Given the description of an element on the screen output the (x, y) to click on. 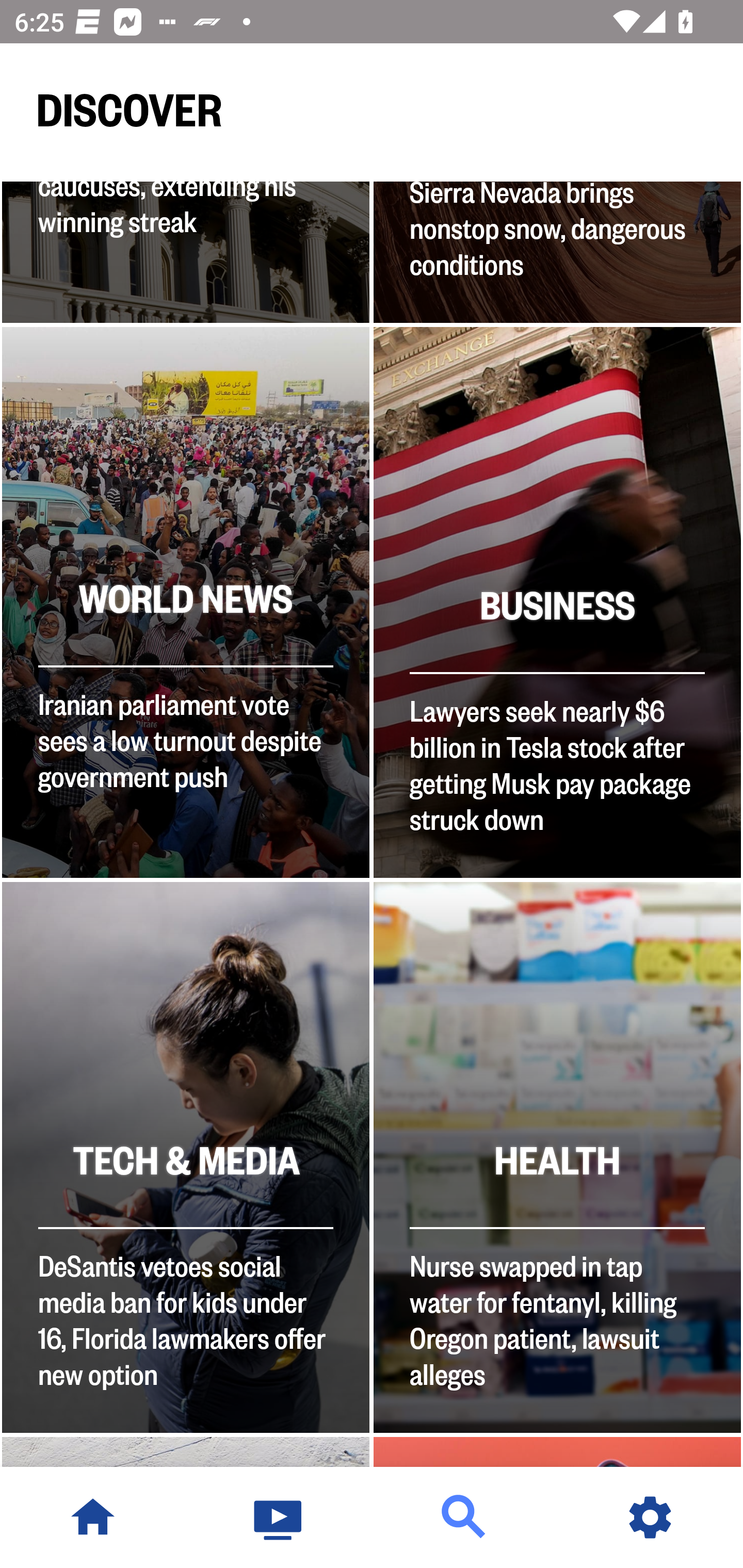
NBC News Home (92, 1517)
Watch (278, 1517)
Settings (650, 1517)
